Given the description of an element on the screen output the (x, y) to click on. 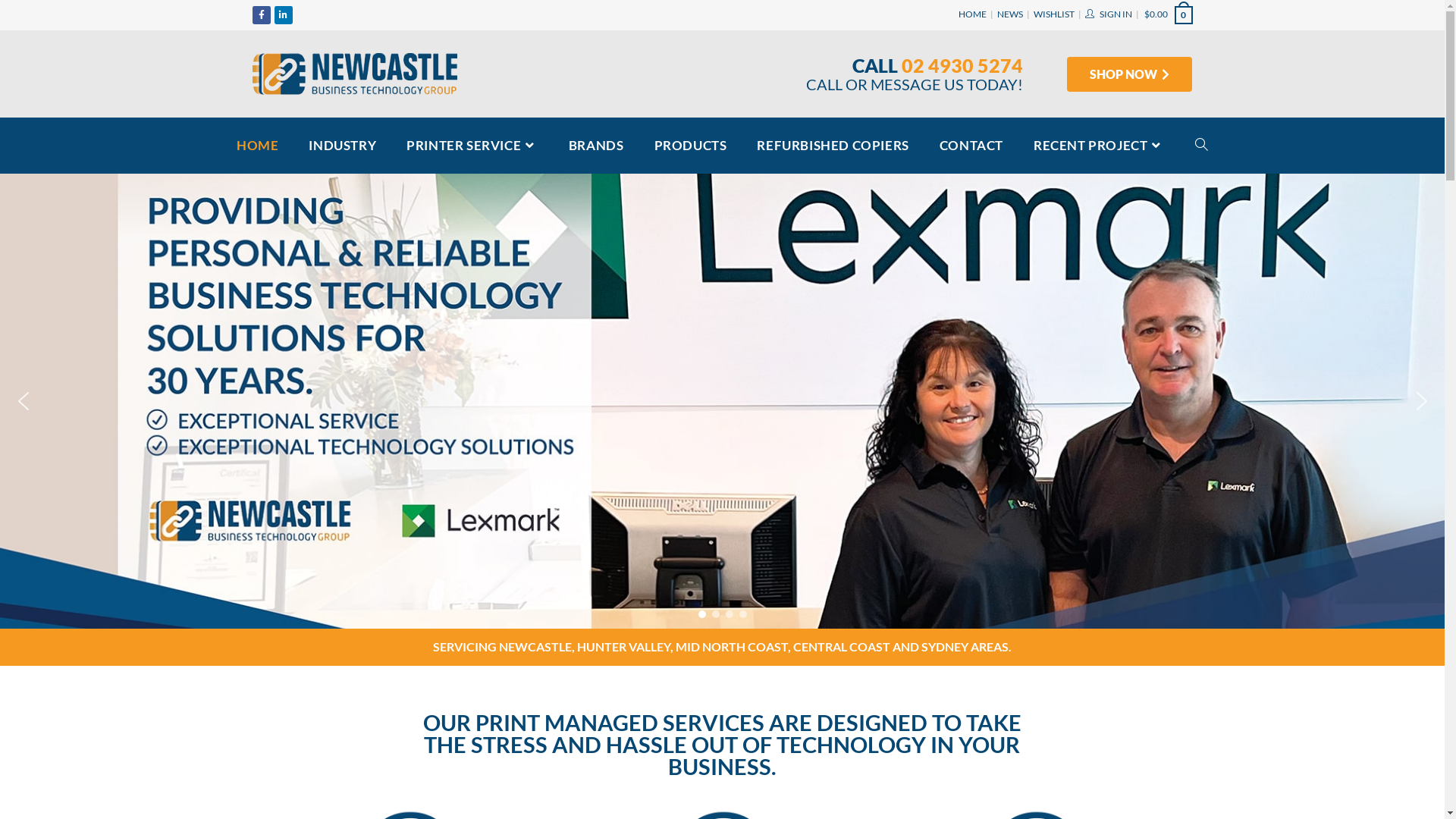
PRODUCTS Element type: text (689, 145)
02 4930 5274 Element type: text (961, 64)
HOME Element type: text (257, 145)
SIGN IN Element type: text (1115, 13)
INDUSTRY Element type: text (342, 145)
$0.00 0 Element type: text (1167, 13)
NEWS Element type: text (1009, 13)
BRANDS Element type: text (596, 145)
HOME Element type: text (972, 13)
SHOP NOW Element type: text (1129, 73)
REFURBISHED COPIERS Element type: text (832, 145)
CONTACT Element type: text (971, 145)
WISHLIST Element type: text (1052, 13)
PRINTER SERVICE Element type: text (472, 145)
RECENT PROJECT Element type: text (1098, 145)
